Given the description of an element on the screen output the (x, y) to click on. 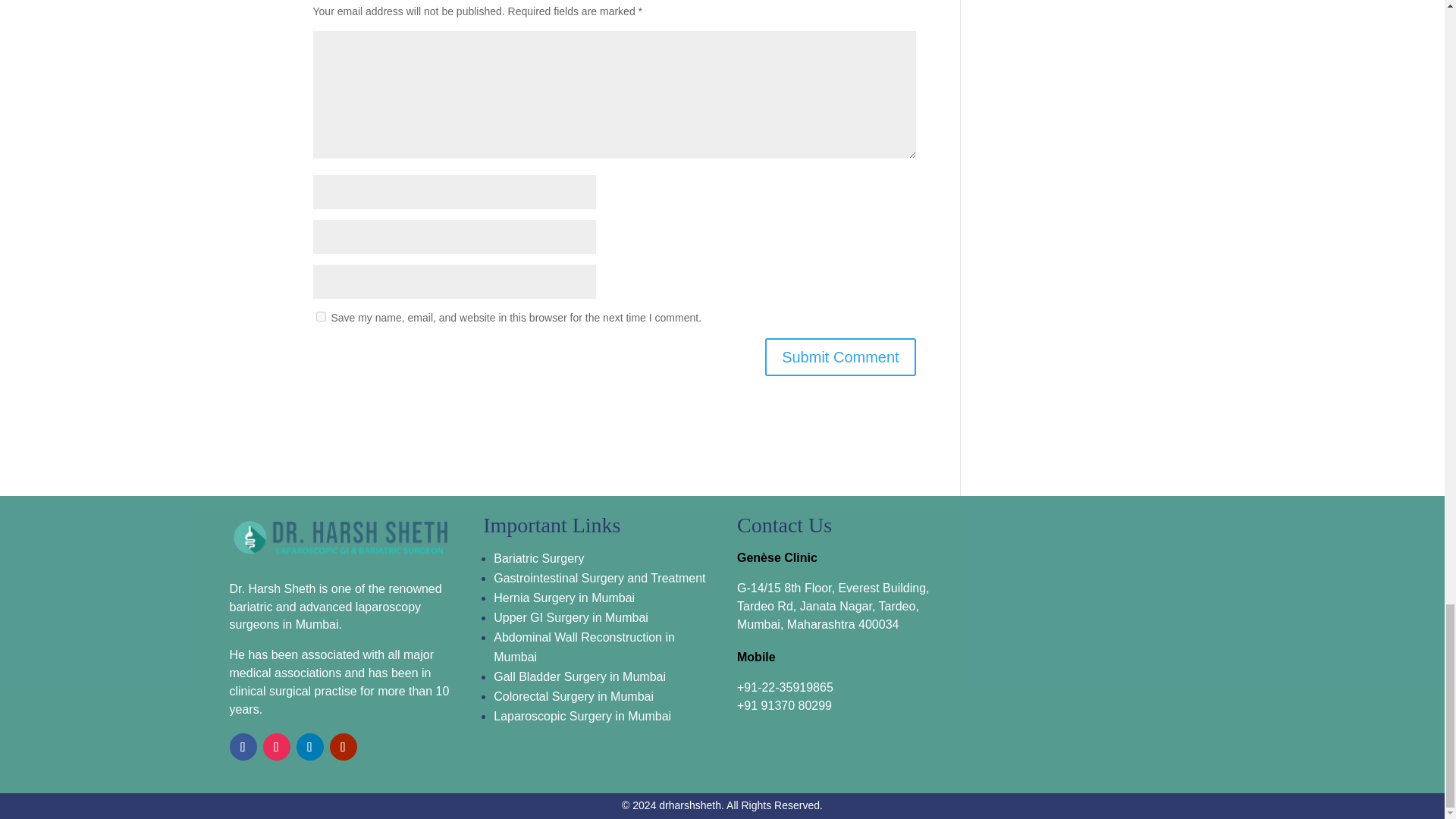
Follow on Facebook (242, 746)
Follow on Youtube (342, 746)
Follow on Instagram (275, 746)
Follow on LinkedIn (309, 746)
Submit Comment (840, 356)
yes (319, 316)
